Given the description of an element on the screen output the (x, y) to click on. 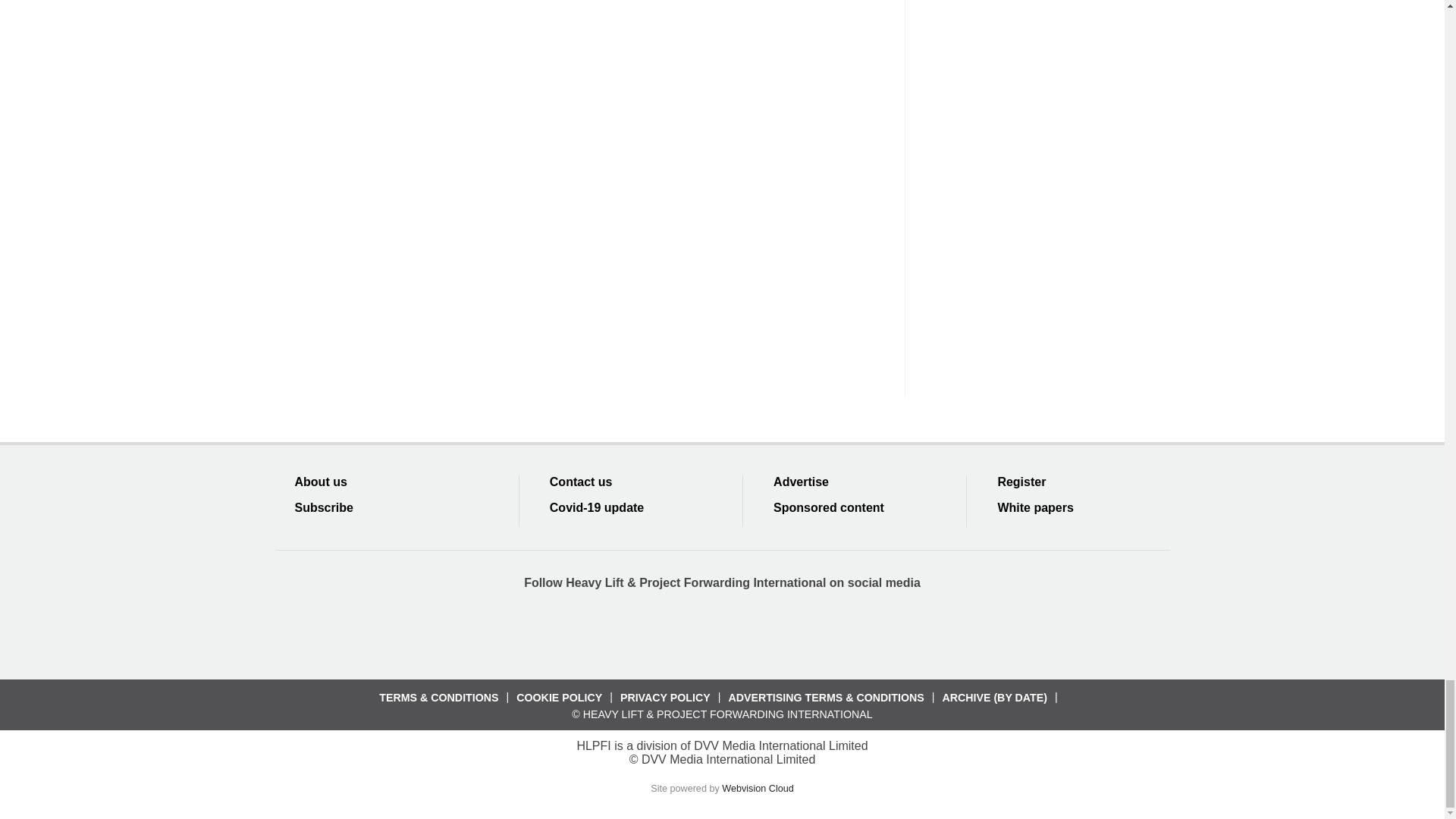
Connect with us on Twitter (667, 632)
Connect with us on Facebook (611, 632)
Email us (776, 632)
Connect with us on LinkedIn (721, 632)
Connect with us on Instagram (831, 632)
